Given the description of an element on the screen output the (x, y) to click on. 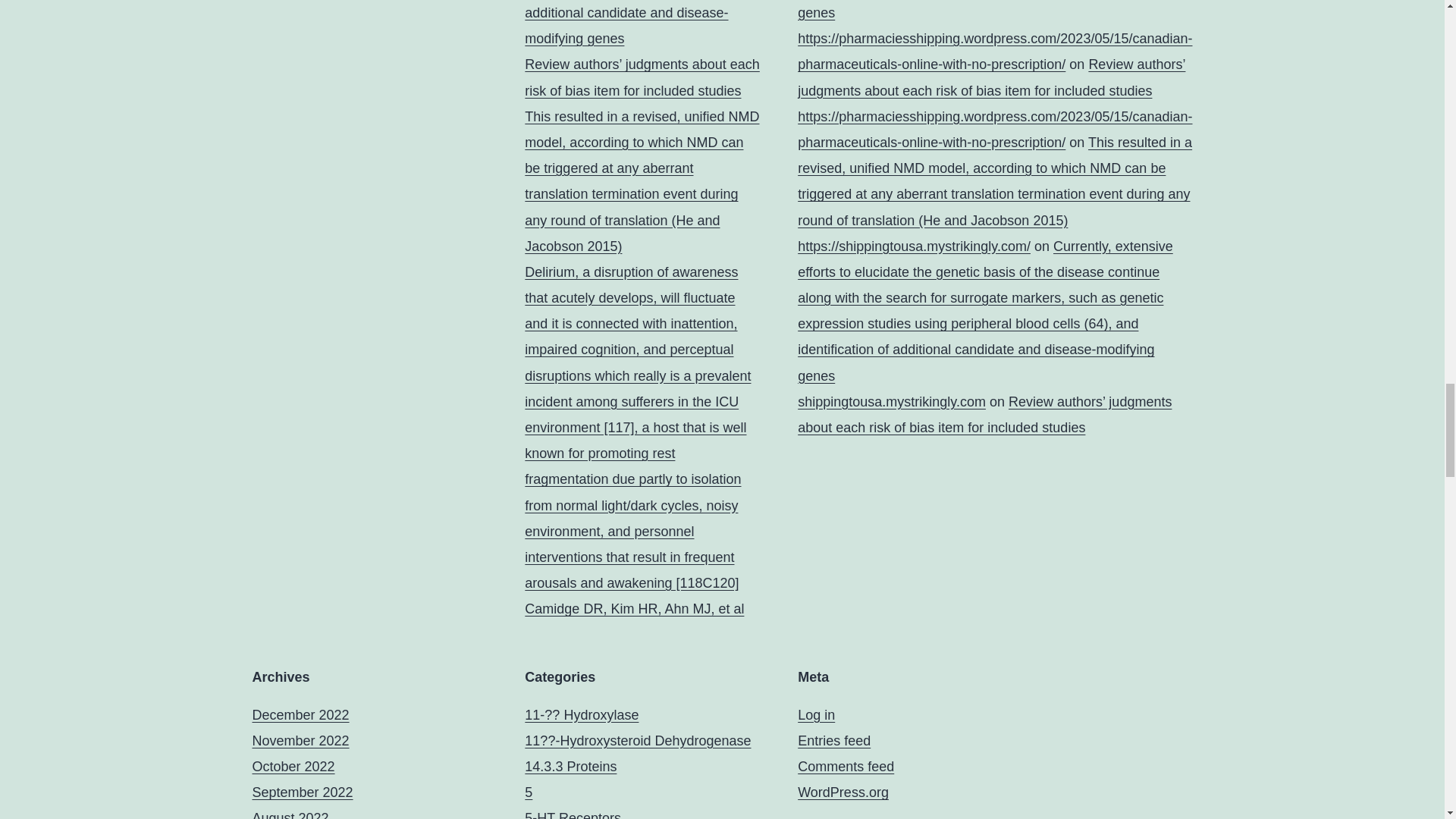
August 2022 (290, 814)
Camidge DR, Kim HR, Ahn MJ, et al (634, 608)
November 2022 (300, 740)
September 2022 (301, 792)
October 2022 (292, 766)
December 2022 (300, 714)
shippingtousa.mystrikingly.com (891, 401)
